Given the description of an element on the screen output the (x, y) to click on. 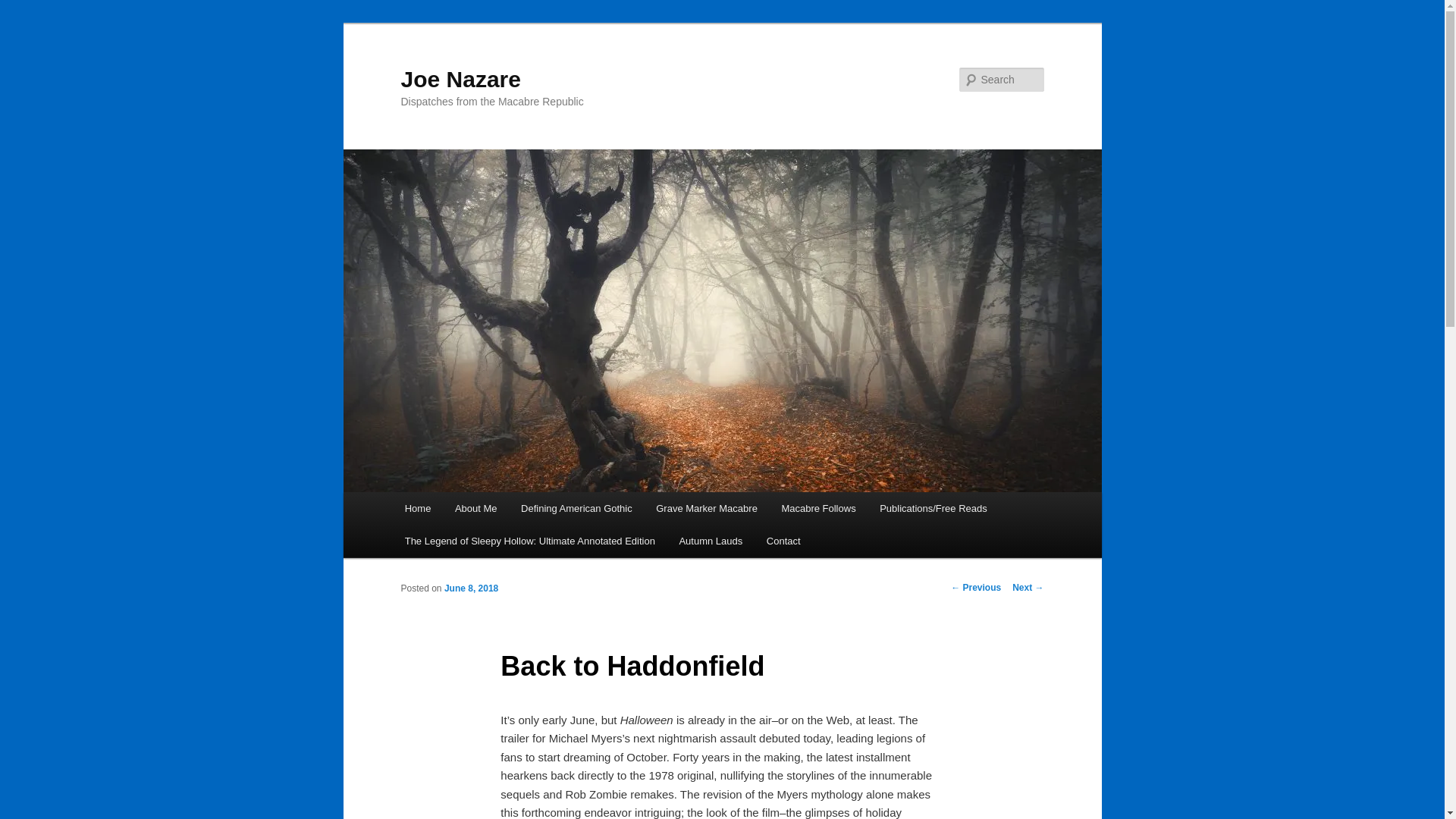
About Me (475, 508)
The Legend of Sleepy Hollow: Ultimate Annotated Edition (529, 540)
Grave Marker Macabre (705, 508)
Home (417, 508)
Macabre Follows (818, 508)
June 8, 2018 (470, 588)
Autumn Lauds (710, 540)
10:16 PM (470, 588)
Search (24, 8)
Contact (783, 540)
Defining American Gothic (575, 508)
Joe Nazare (459, 78)
